Given the description of an element on the screen output the (x, y) to click on. 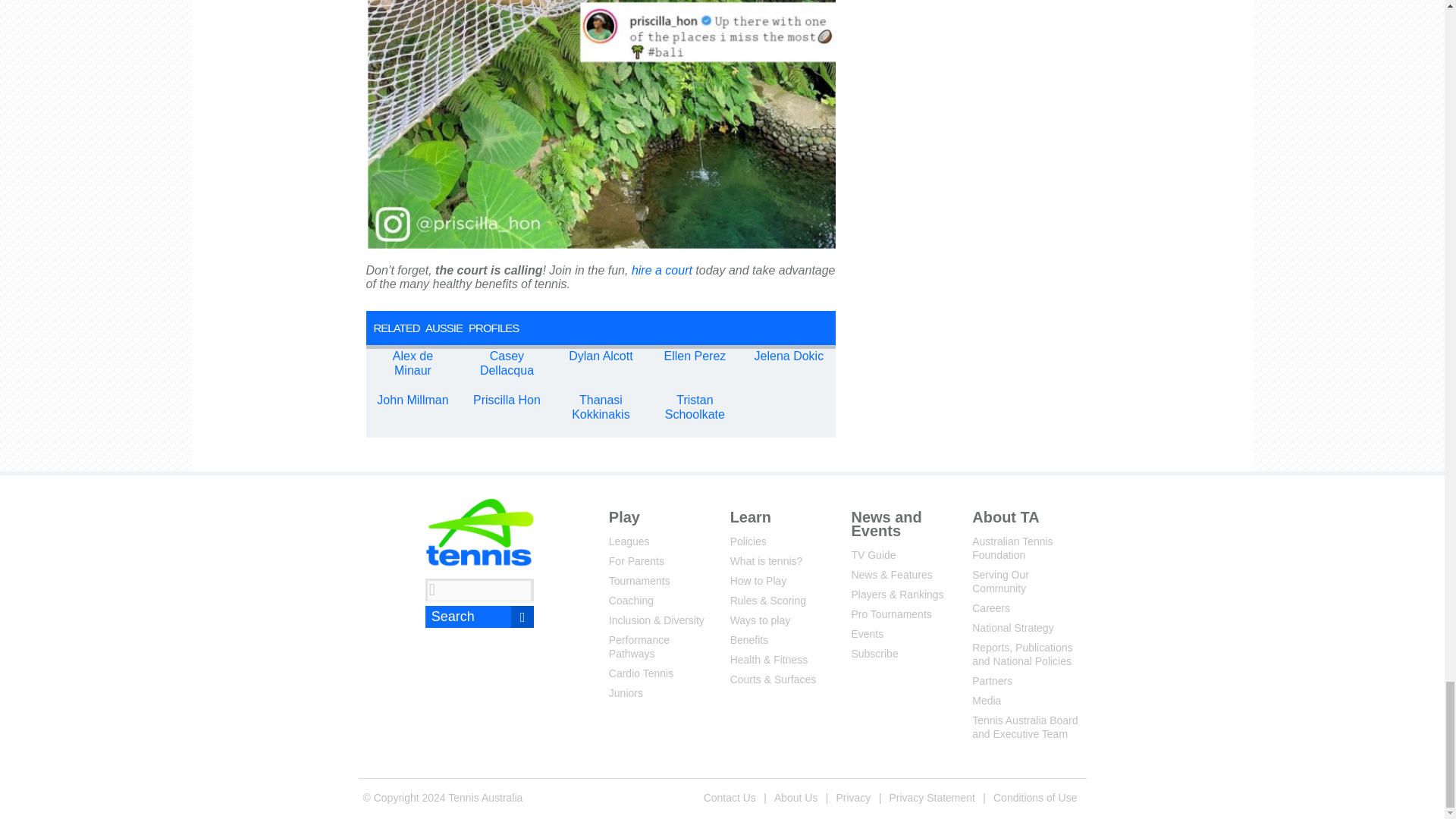
Privacy (853, 797)
Privacy Statement (931, 797)
About Us (796, 797)
Conditions Of Use (1035, 797)
Contact Us (729, 797)
